Given the description of an element on the screen output the (x, y) to click on. 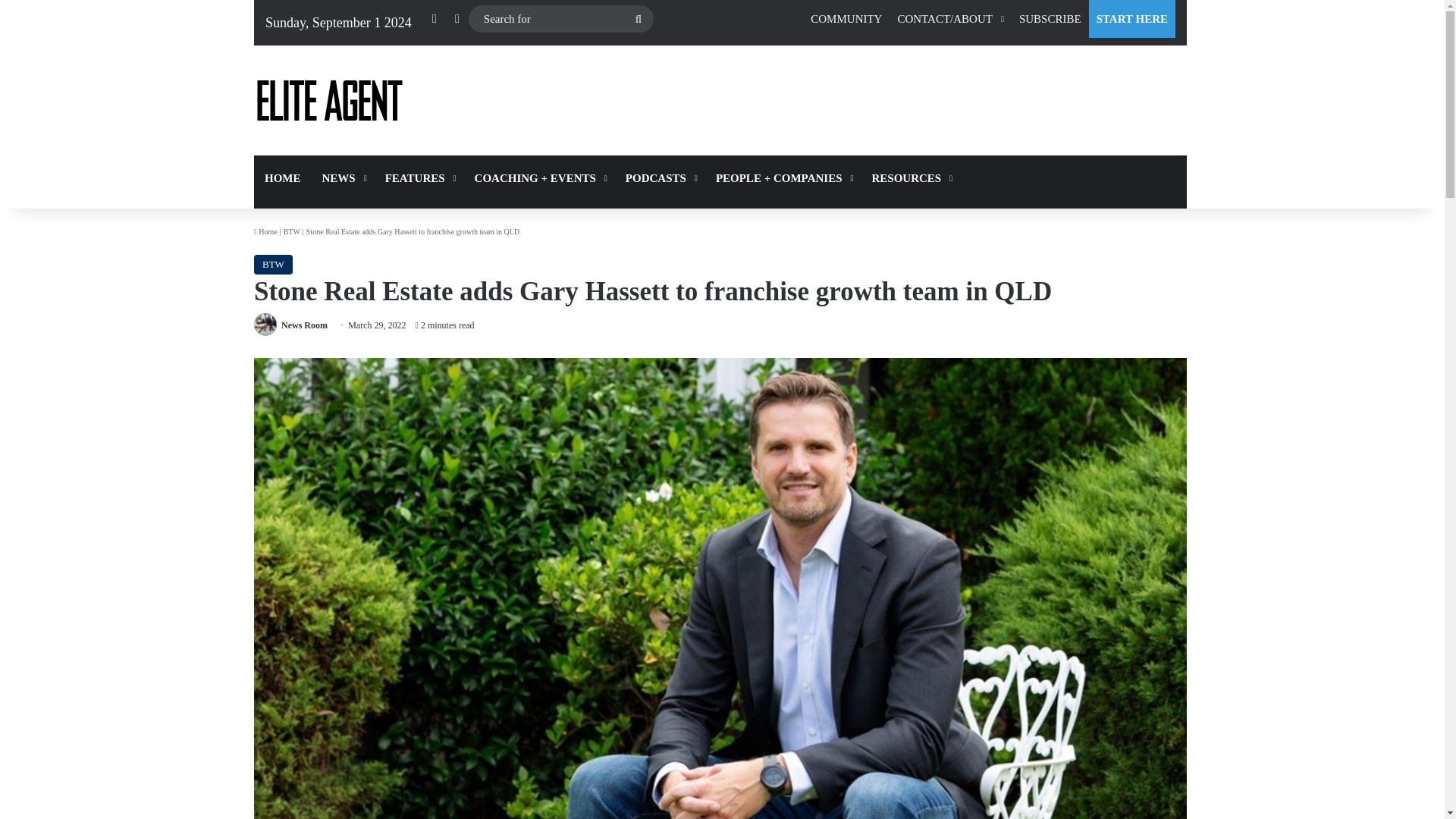
FEATURES (419, 177)
HOME (282, 177)
Elite Agent (329, 100)
SUBSCRIBE (1050, 18)
NEWS (342, 177)
COMMUNITY (846, 18)
News Room (304, 325)
START HERE (1131, 18)
Search for (560, 18)
